Given the description of an element on the screen output the (x, y) to click on. 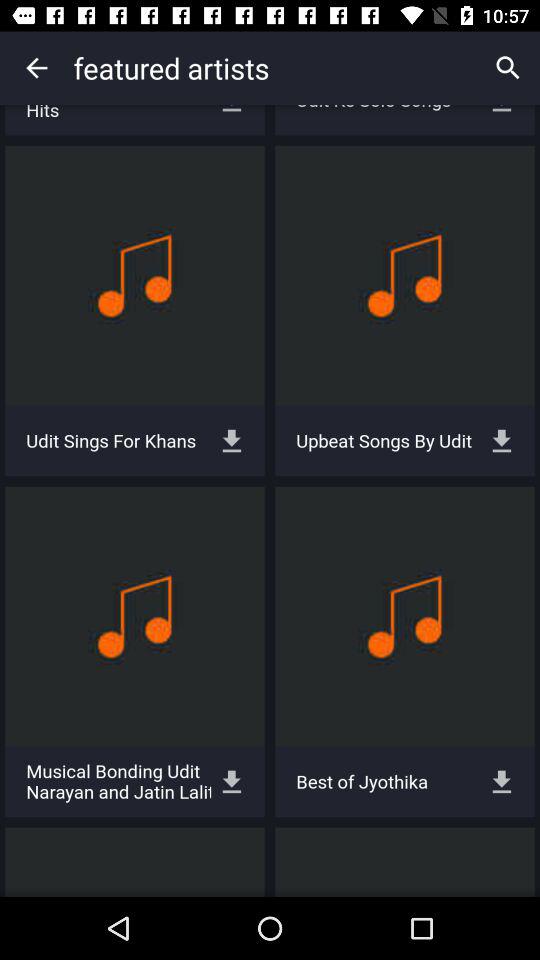
select 1st row 2nd column box (404, 275)
select the button which is right to the upbeat songs by udit (501, 440)
select the icon which is above the text best of jyothika (404, 615)
